Given the description of an element on the screen output the (x, y) to click on. 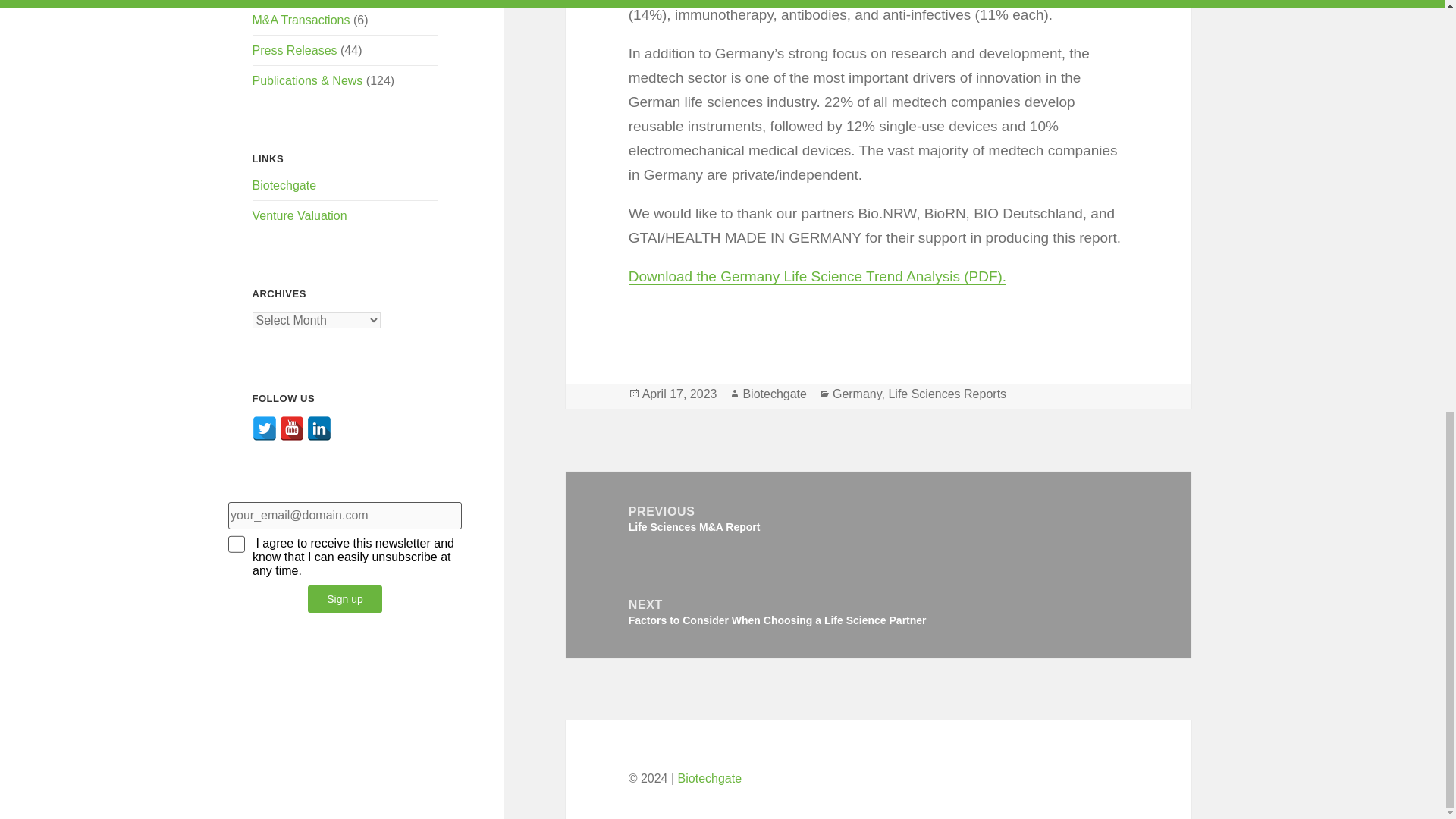
Press Releases (294, 50)
Venture Valuation (299, 215)
Twitter (263, 428)
April 17, 2023 (679, 394)
Biotechgate (284, 185)
